Given the description of an element on the screen output the (x, y) to click on. 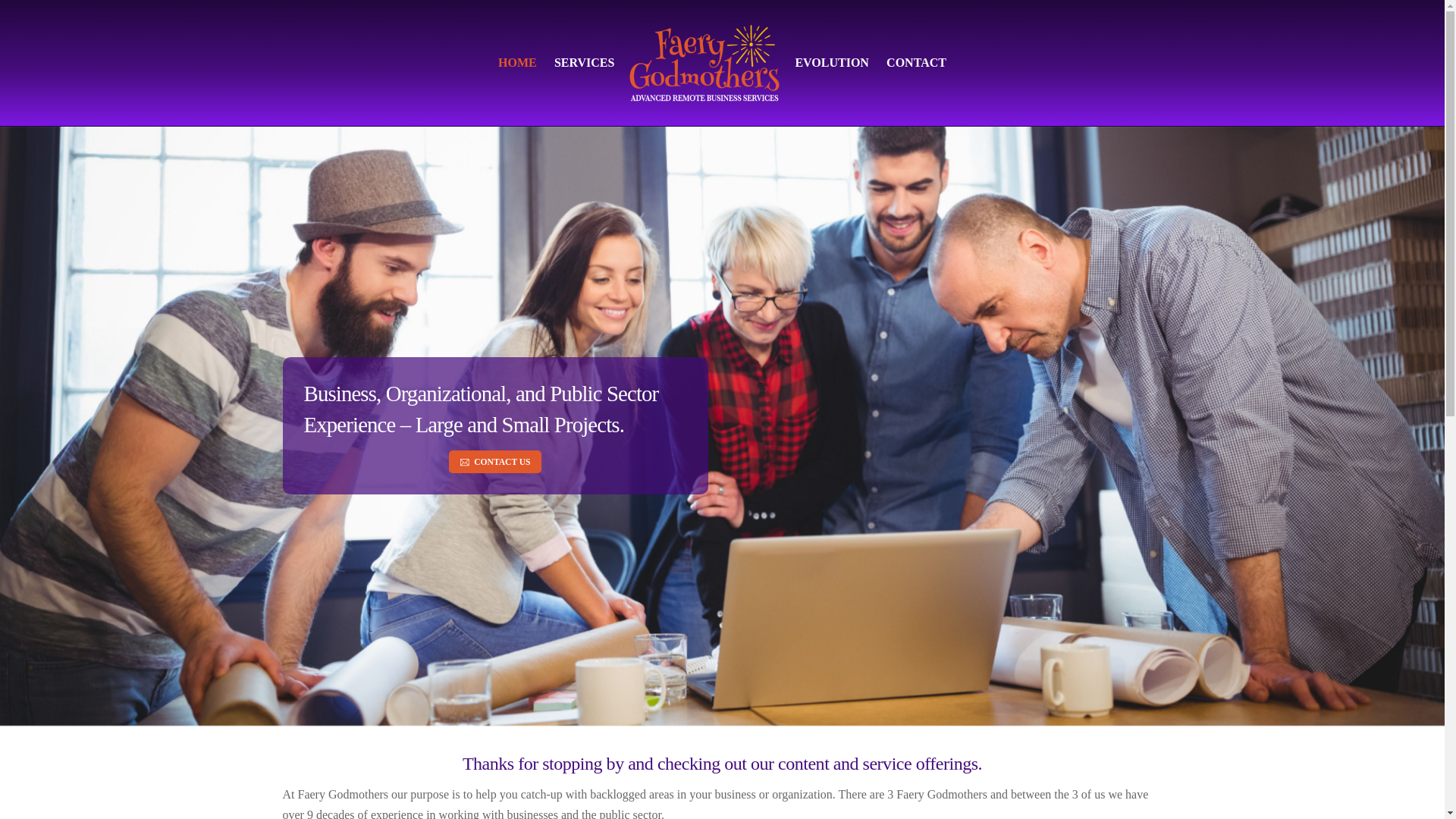
HOME (516, 62)
CONTACT (916, 62)
SERVICES (584, 62)
CONTACT US (494, 461)
Faery Godmothers Advanced Remote Business Services (704, 62)
EVOLUTION (721, 62)
